Given the description of an element on the screen output the (x, y) to click on. 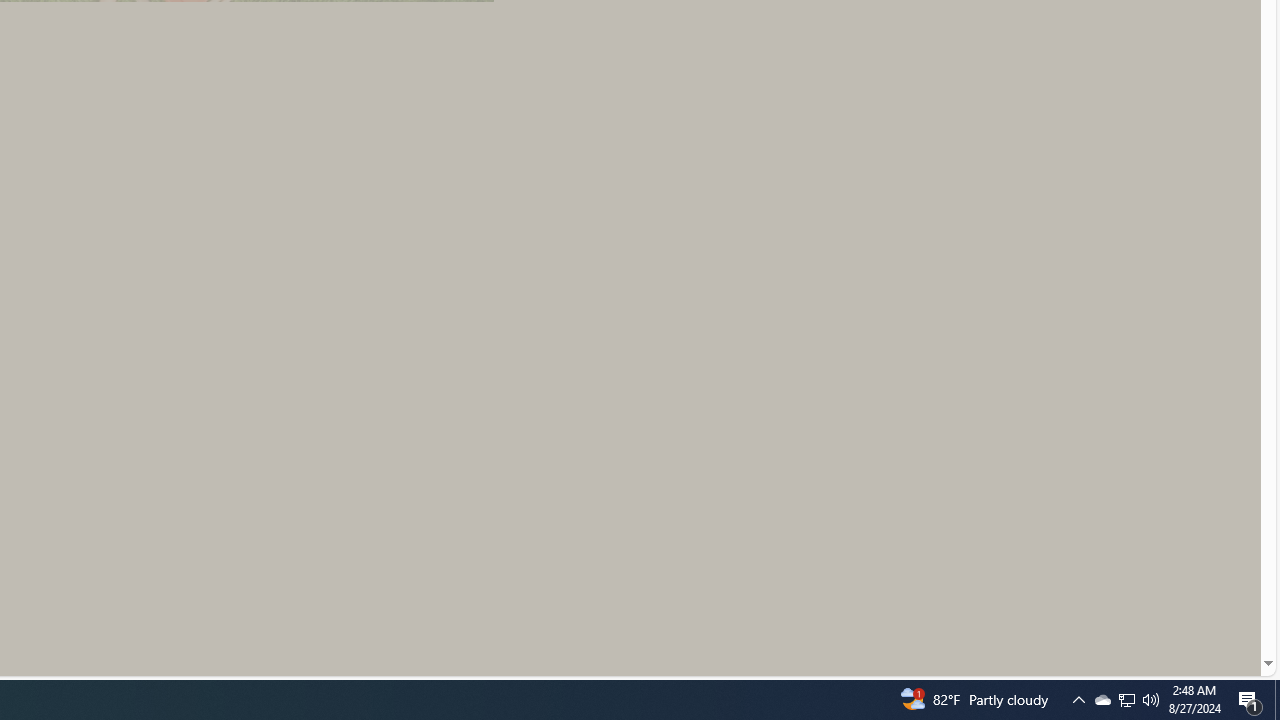
eBay Coupons (303, 499)
